Given the description of an element on the screen output the (x, y) to click on. 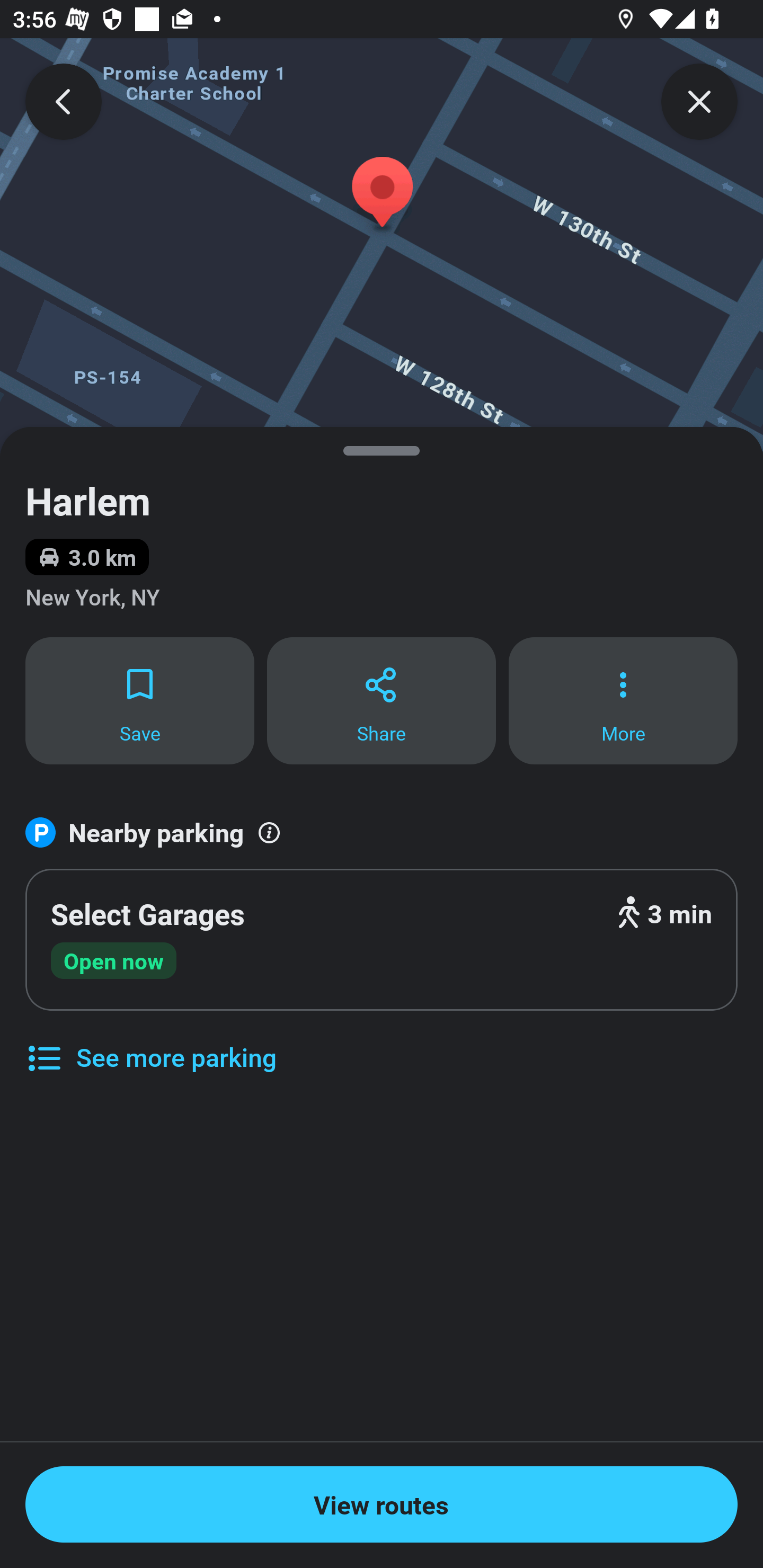
Harlem 3.0 km New York, NY (381, 531)
Save (139, 700)
Share (381, 700)
More (622, 700)
Select Garages 3 min Open now (381, 939)
See more parking (150, 1043)
View routes (381, 1504)
